Given the description of an element on the screen output the (x, y) to click on. 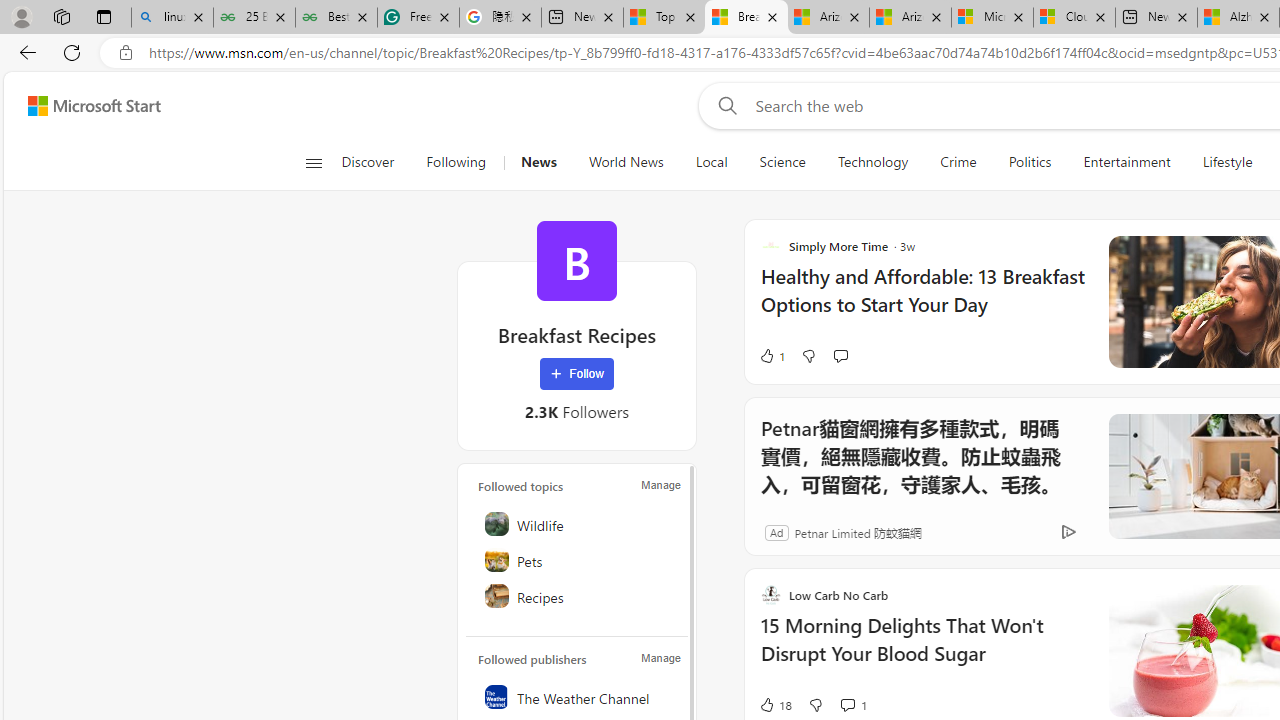
View comments 1 Comment (847, 704)
Pets (578, 560)
